Given the description of an element on the screen output the (x, y) to click on. 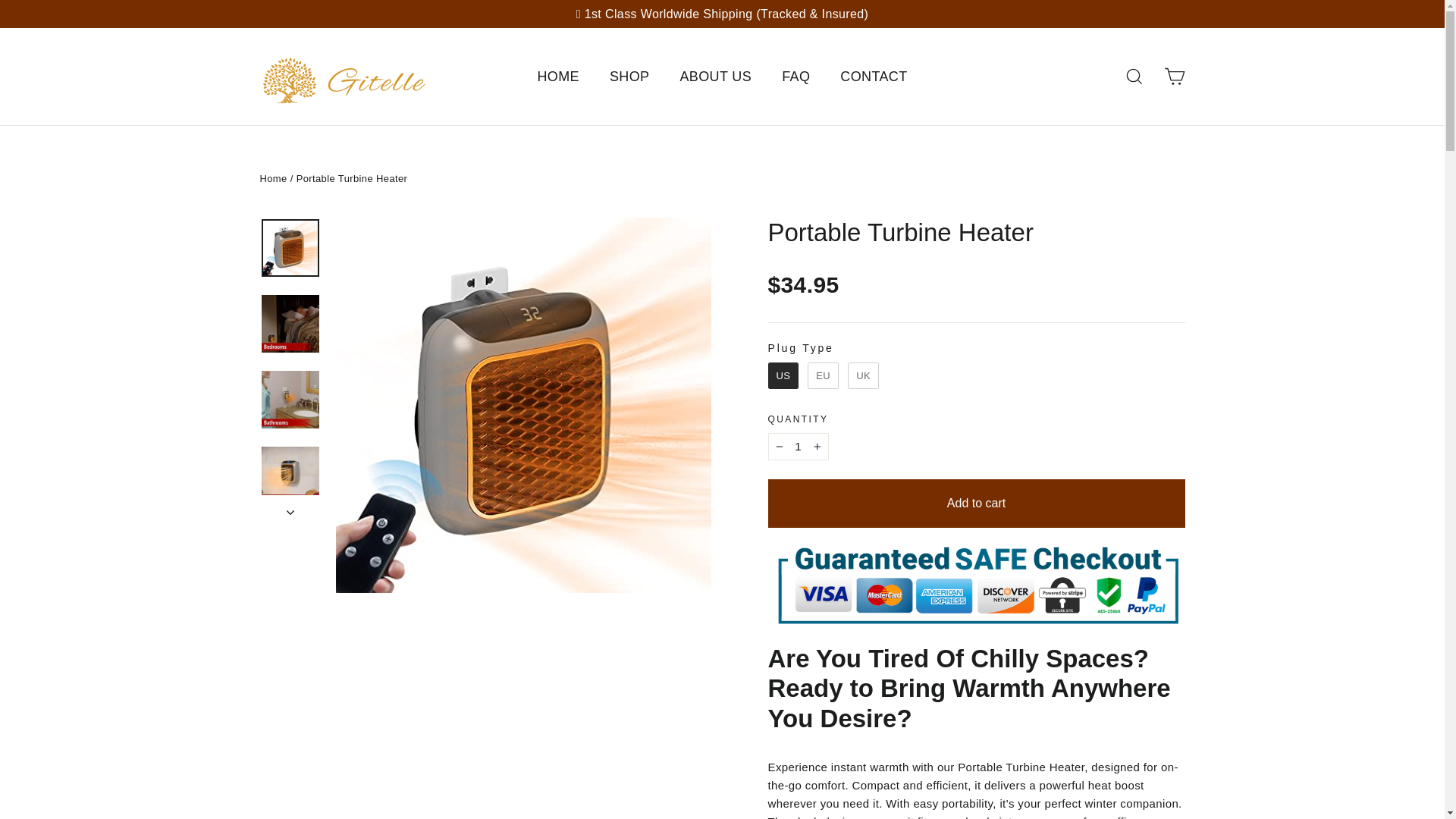
icon-cart (1174, 76)
SHOP (629, 76)
Back to the frontpage (272, 178)
HOME (557, 76)
FAQ (1134, 76)
ABOUT US (796, 76)
Home (715, 76)
CONTACT (272, 178)
1 (873, 76)
icon-search (1173, 76)
